Given the description of an element on the screen output the (x, y) to click on. 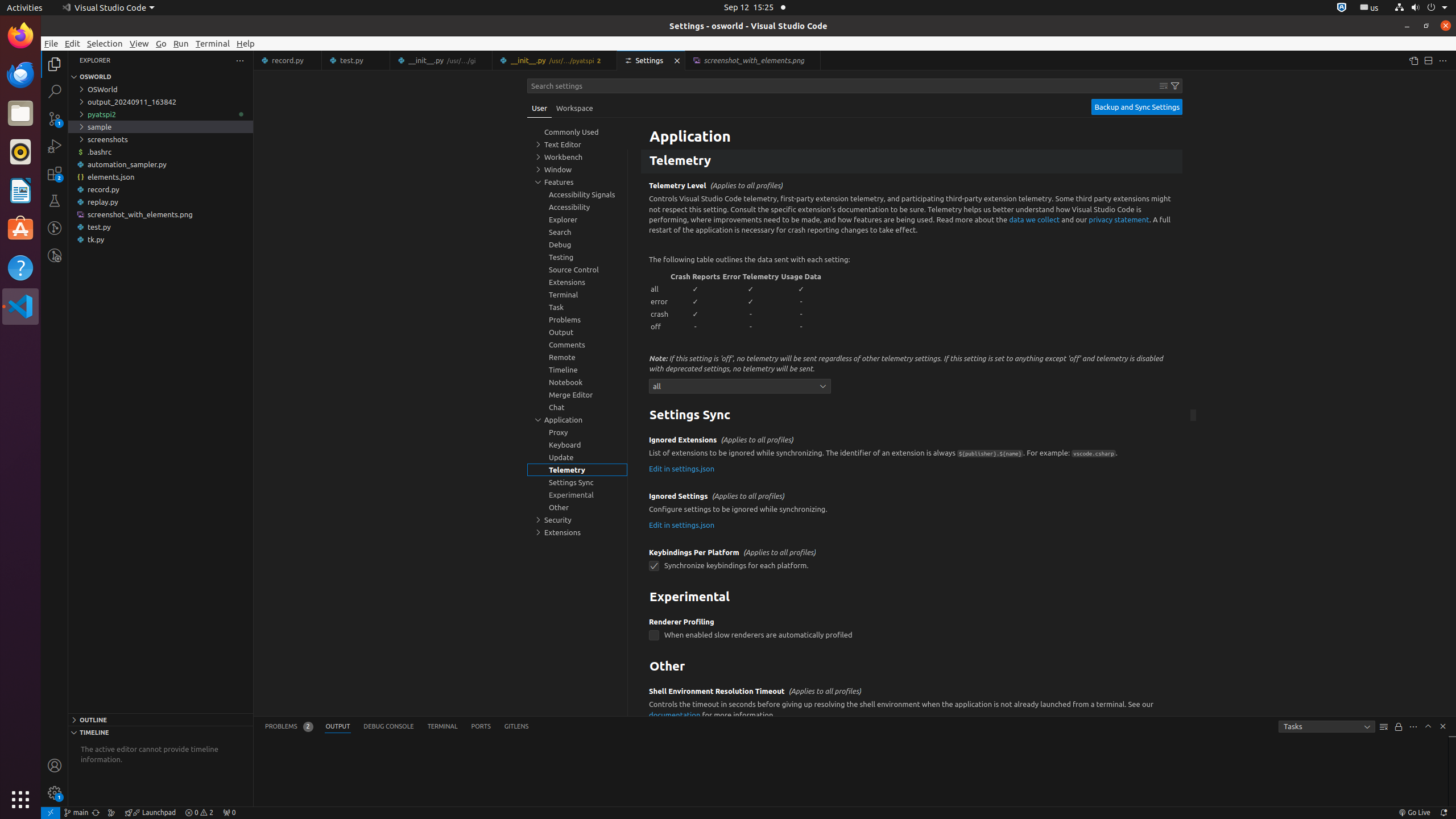
record.py Element type: page-tab (287, 60)
record.py Element type: tree-item (160, 189)
Timeline Section Element type: push-button (160, 731)
all Element type: table-cell (659, 288)
Turn Auto Scrolling Off Element type: check-box (1398, 726)
